Given the description of an element on the screen output the (x, y) to click on. 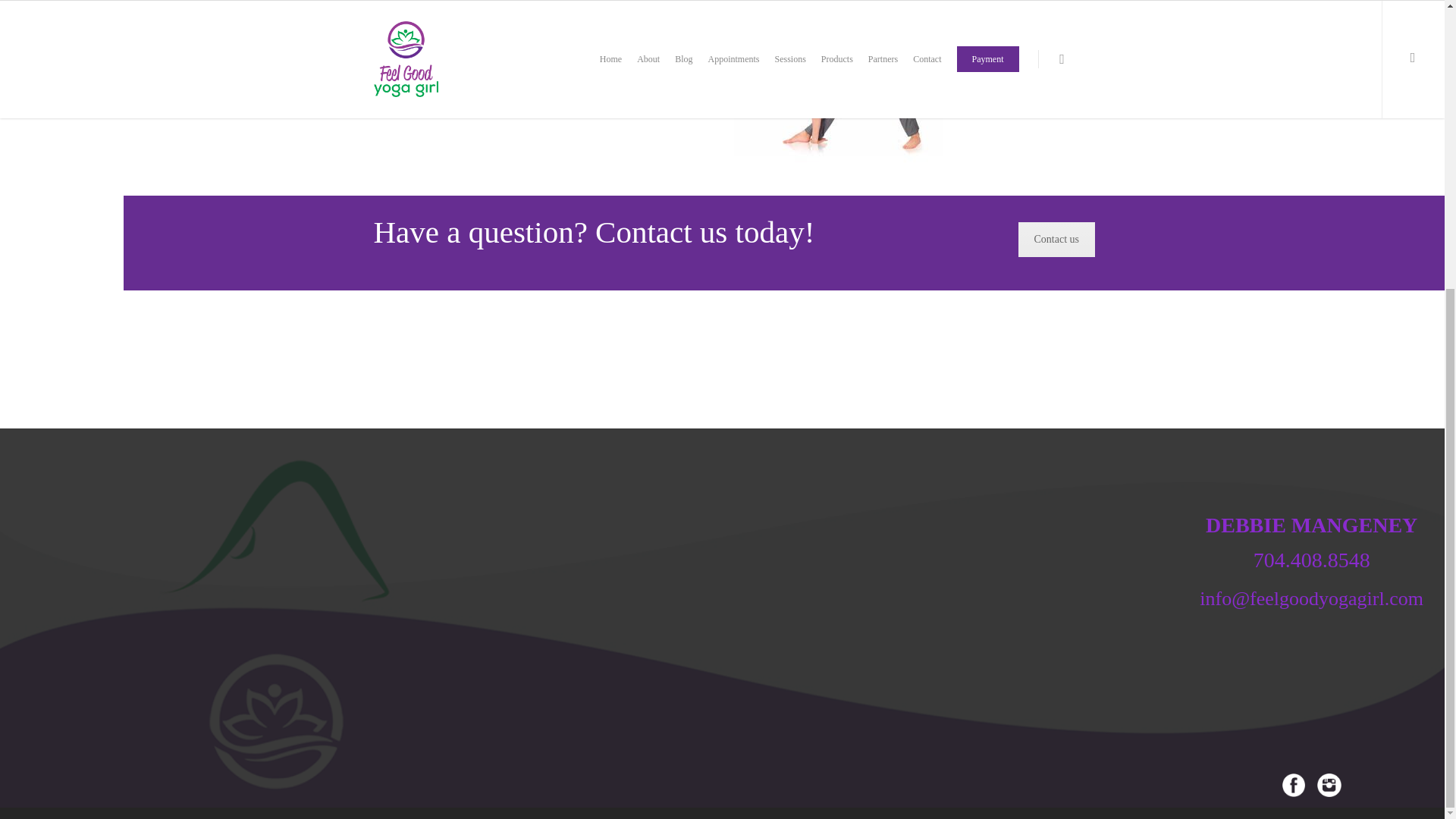
704.408.8548 (1311, 554)
Contact us (1055, 239)
